Given the description of an element on the screen output the (x, y) to click on. 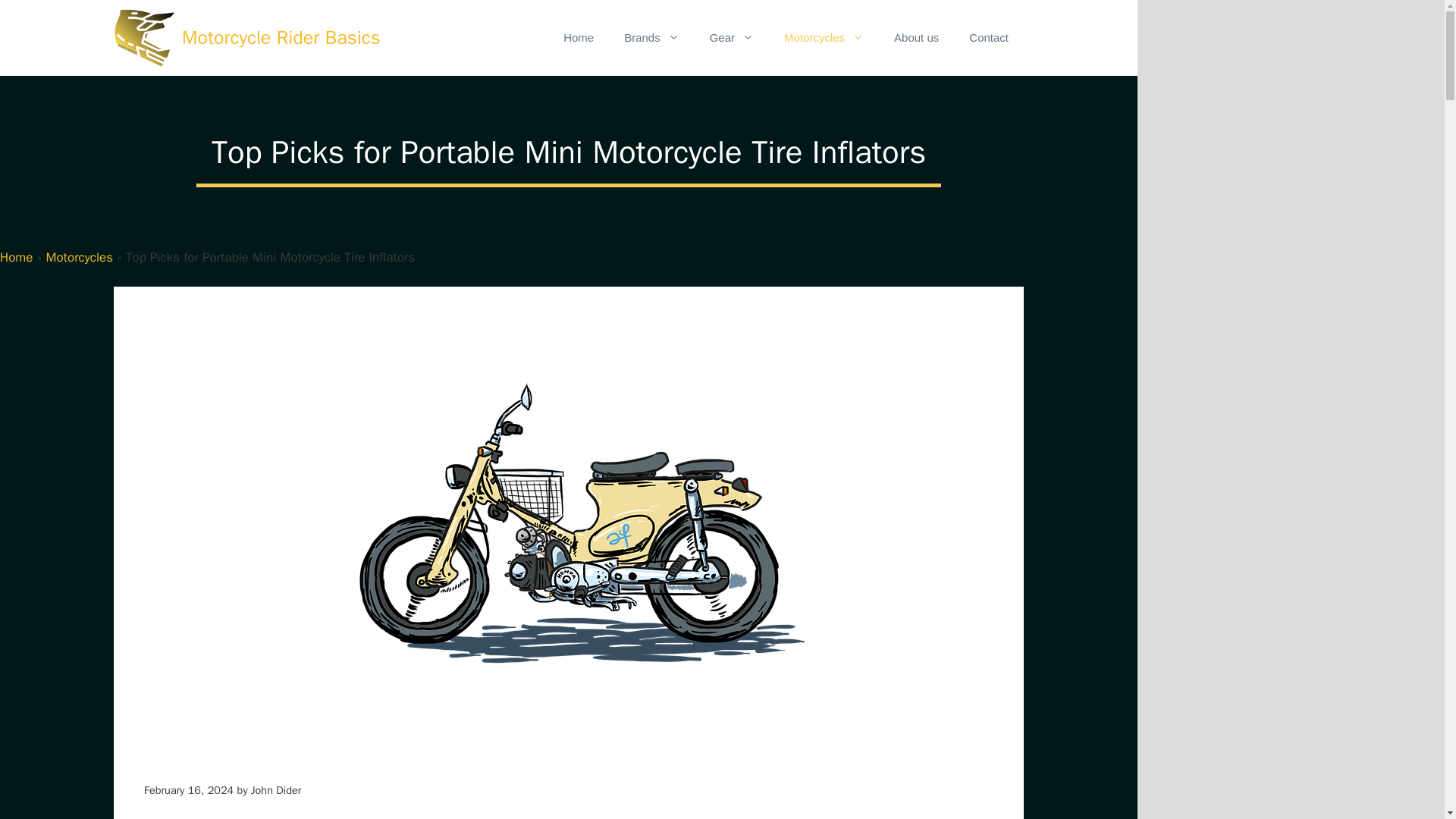
Contact (988, 37)
About us (916, 37)
Brands (651, 37)
Motorcycles (79, 257)
John Dider (275, 789)
Motorcycle Rider Basics (281, 38)
Home (16, 257)
Home (578, 37)
Gear (731, 37)
Motorcycles (823, 37)
